Given the description of an element on the screen output the (x, y) to click on. 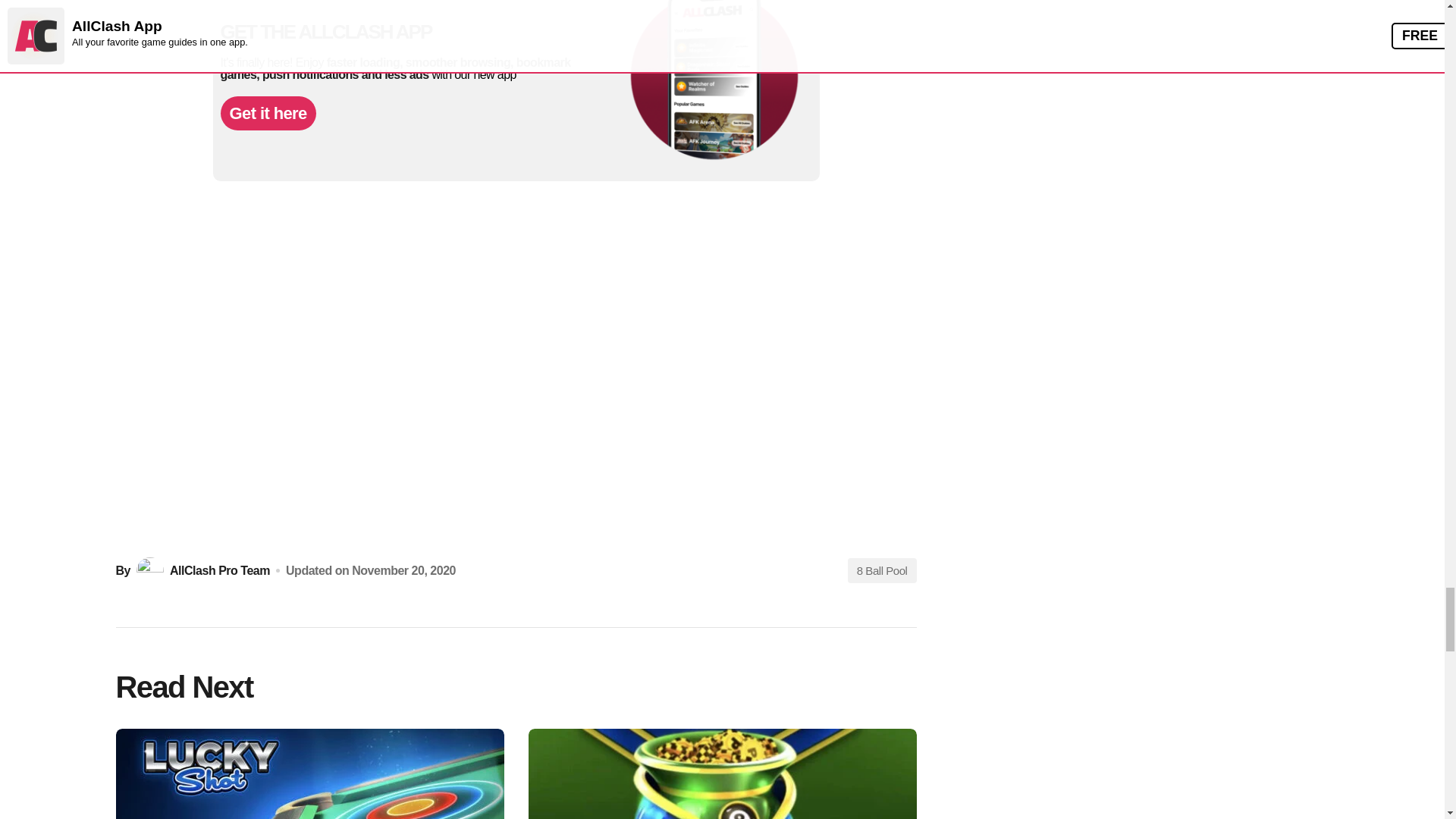
How To Win Tournaments In 8 Ball Pool (721, 773)
Win Lucky Shot Every Time (309, 773)
